Given the description of an element on the screen output the (x, y) to click on. 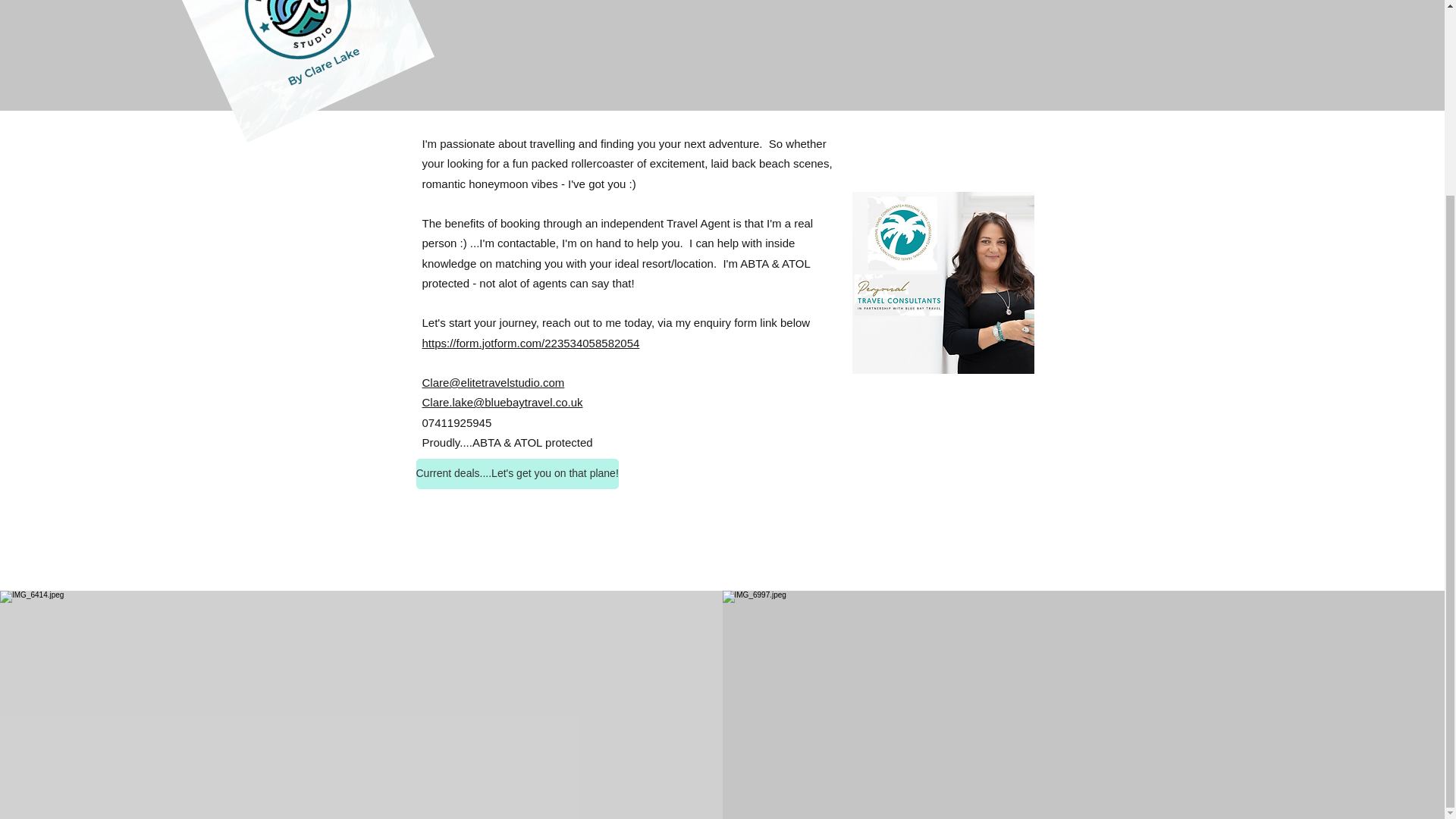
Clare Lake PTC.png (942, 282)
Current deals....Let's get you on that plane! (515, 473)
Blue Circle Wave Surf Club Sports Logo.p (263, 38)
